Given the description of an element on the screen output the (x, y) to click on. 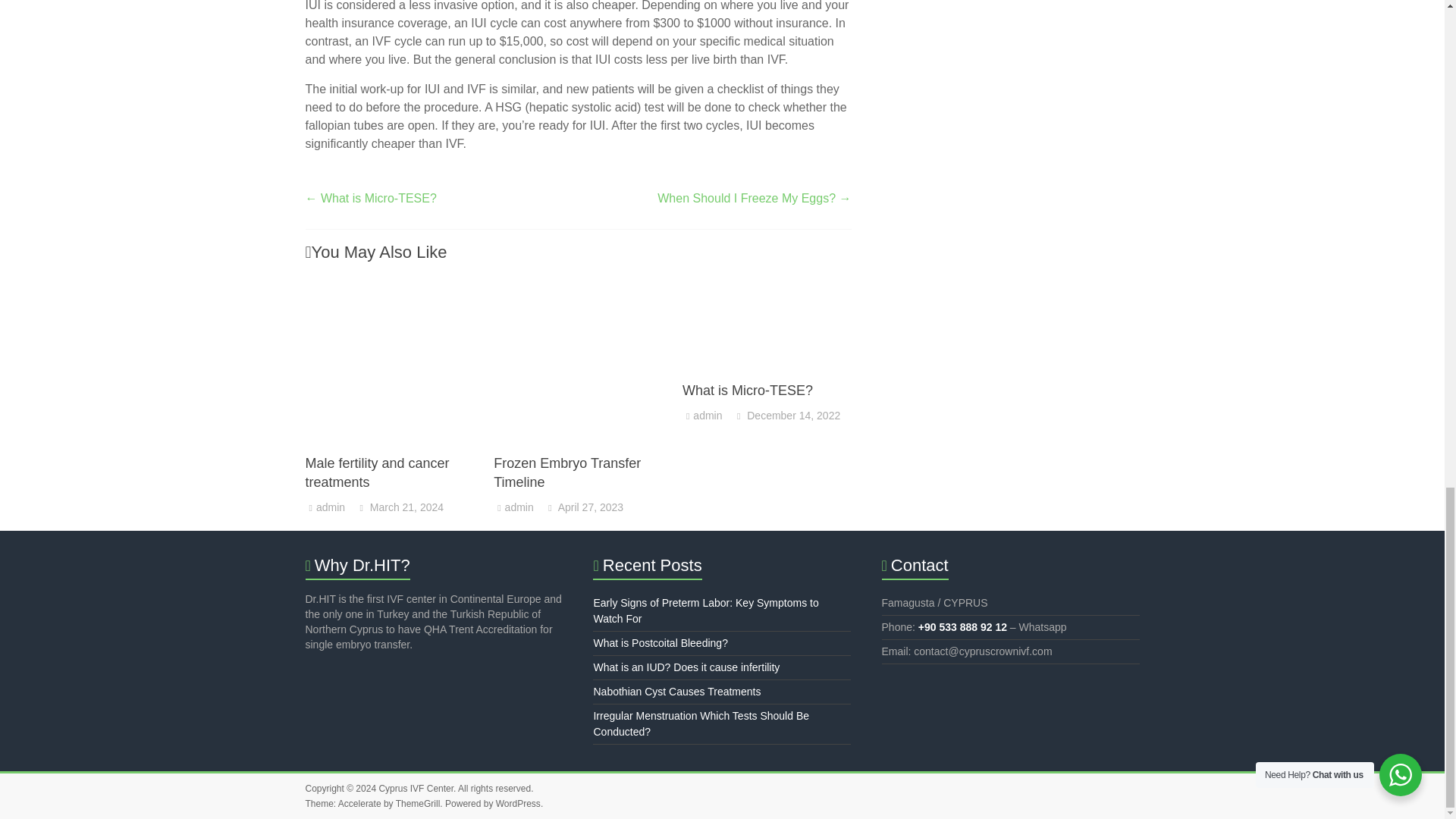
Male fertility and cancer treatments (376, 472)
What is Micro-TESE? (747, 390)
Frozen Embryo Transfer Timeline (577, 284)
admin (519, 507)
admin (707, 415)
Frozen Embryo Transfer Timeline (566, 472)
admin (330, 507)
What is Micro-TESE? (766, 325)
11:25 am (399, 507)
1:02 pm (583, 507)
